Given the description of an element on the screen output the (x, y) to click on. 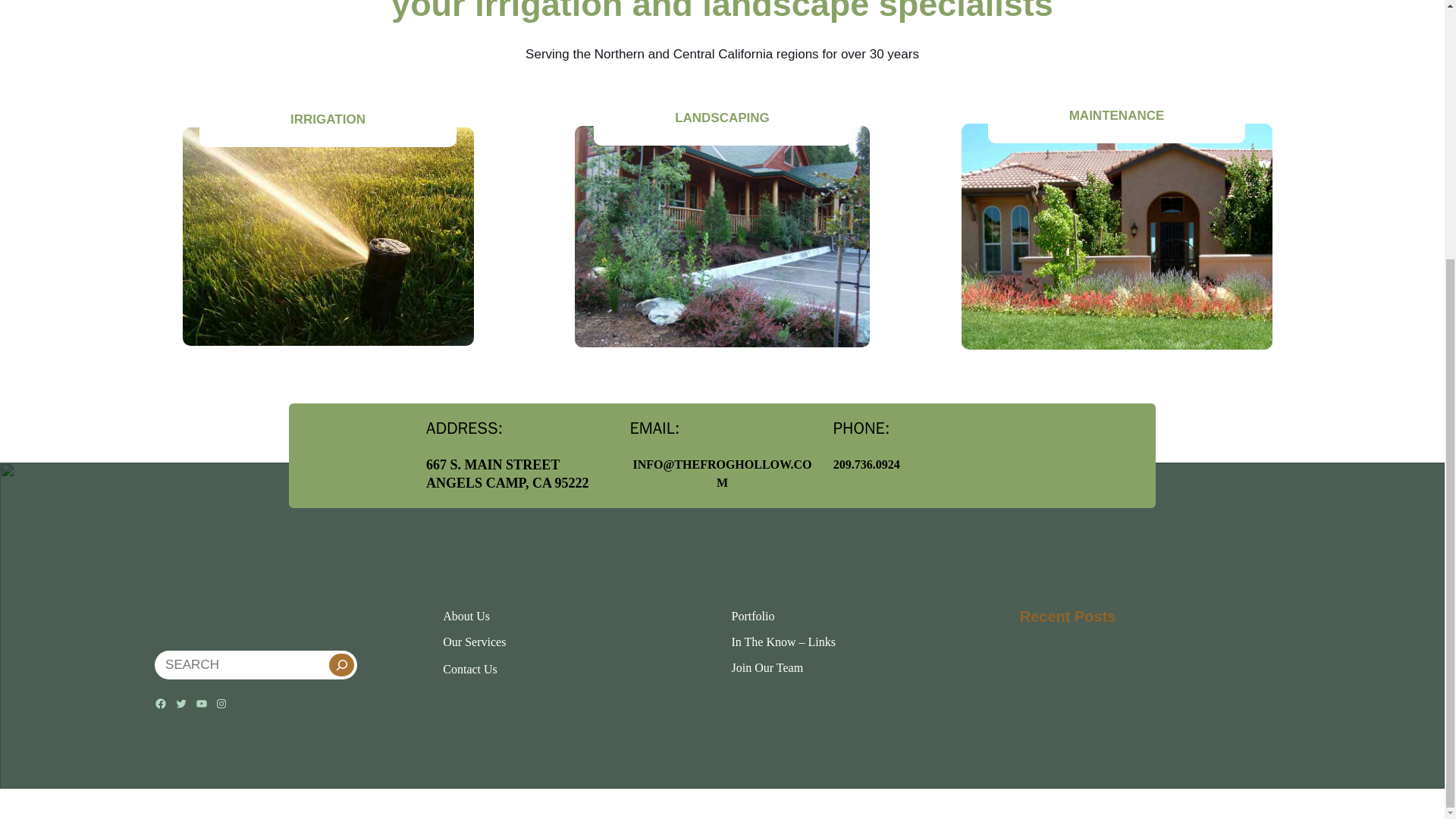
Our Services (473, 641)
Facebook (160, 703)
Portfolio (752, 615)
Twitter (180, 703)
YouTube (201, 703)
About Us (465, 615)
Contact Us (469, 668)
Instagram (221, 703)
Join Our Team (766, 667)
